Given the description of an element on the screen output the (x, y) to click on. 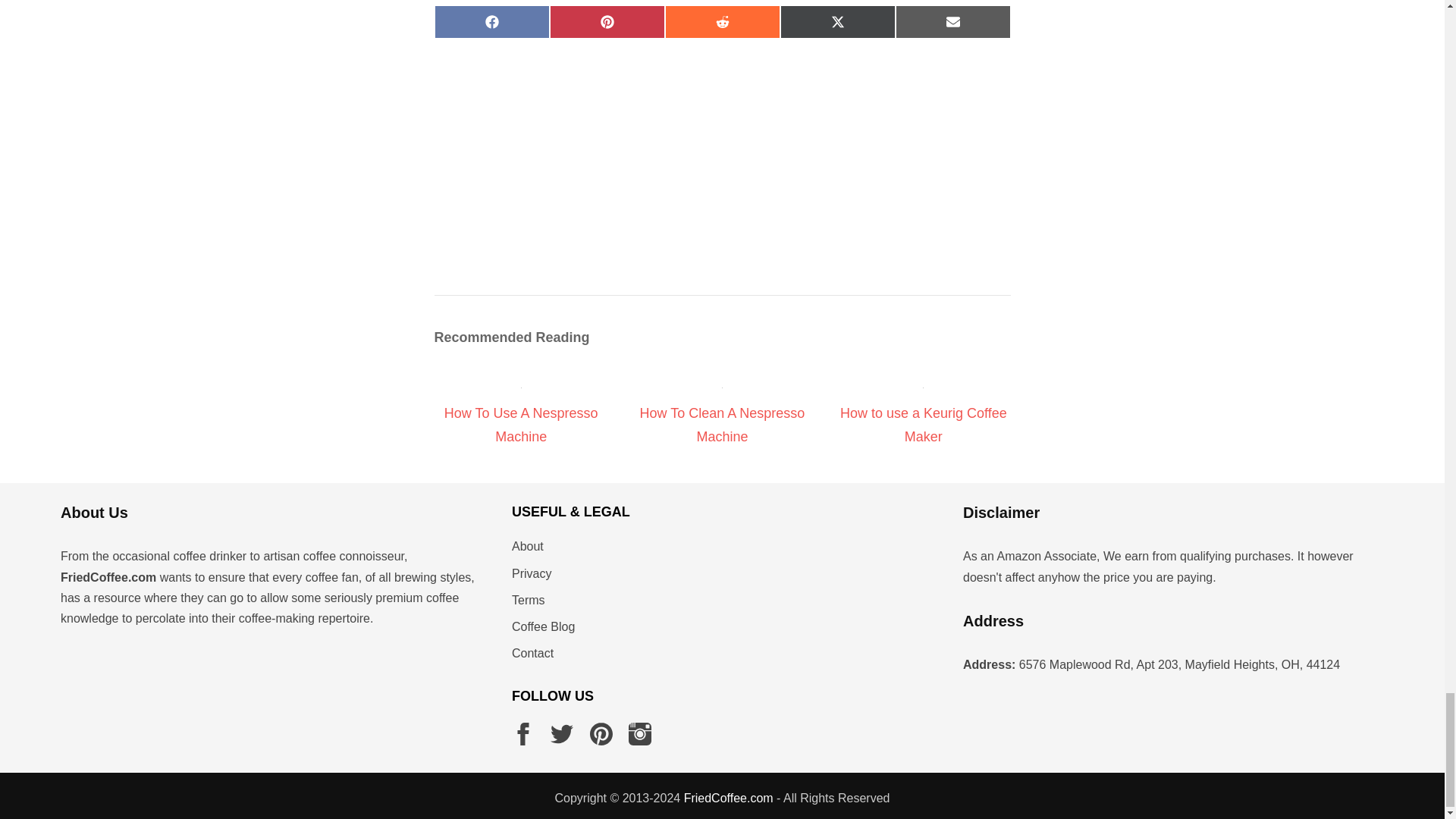
Our Instagram Page. (639, 733)
Friedcoffee page at Facebook. (523, 733)
Friedcoffee at Twitter. (561, 733)
Friedcoffee.com (728, 797)
Friedcoffee at Pinterest. (600, 733)
